Given the description of an element on the screen output the (x, y) to click on. 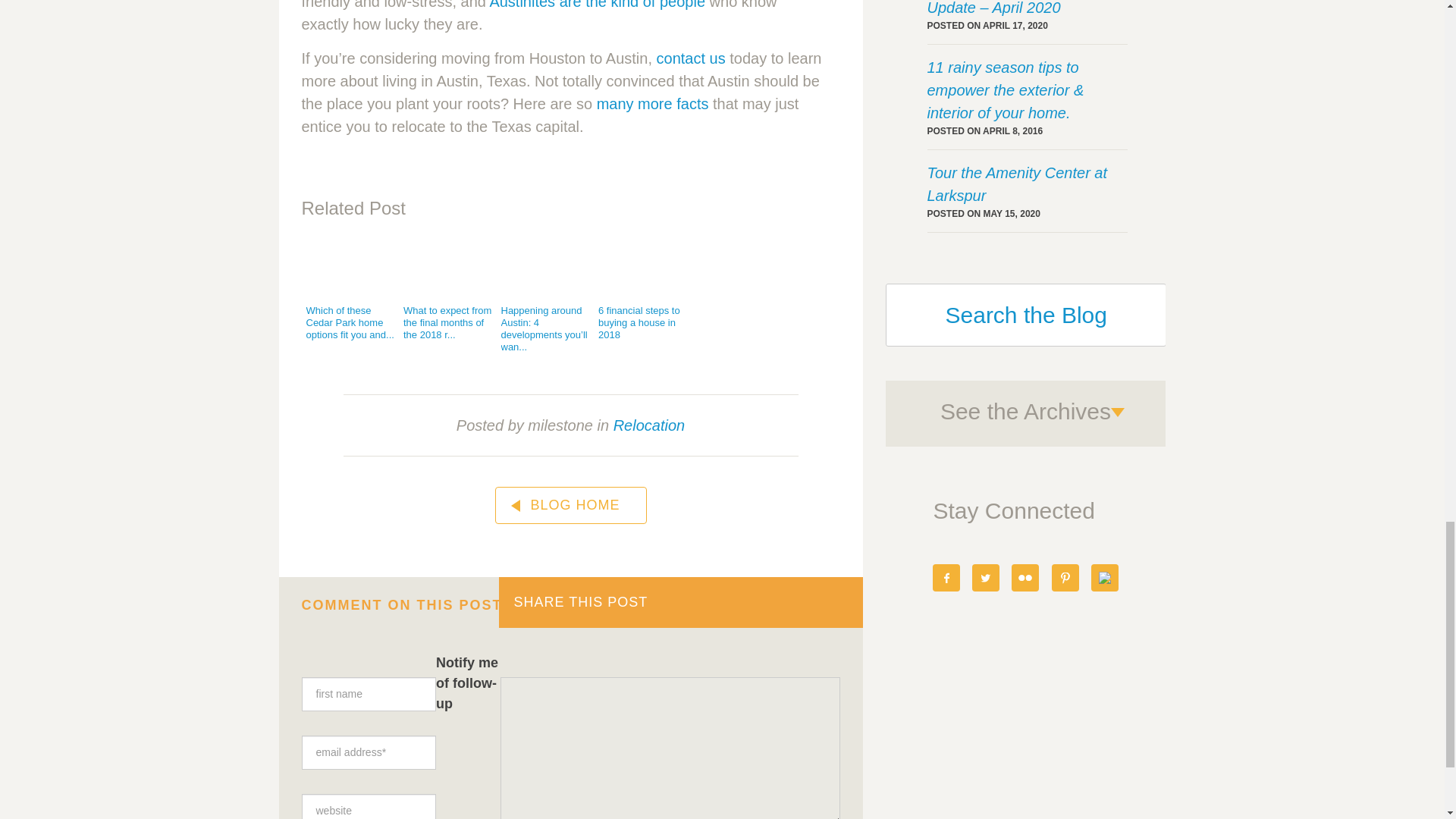
Austinites are the kind of people (596, 4)
contact us (690, 57)
BLOG HOME (570, 505)
SHARE THIS POST (681, 602)
Relocation (648, 425)
Tour the Amenity Center at Larkspur (1026, 184)
Search for: (1025, 314)
many more facts (652, 103)
